Given the description of an element on the screen output the (x, y) to click on. 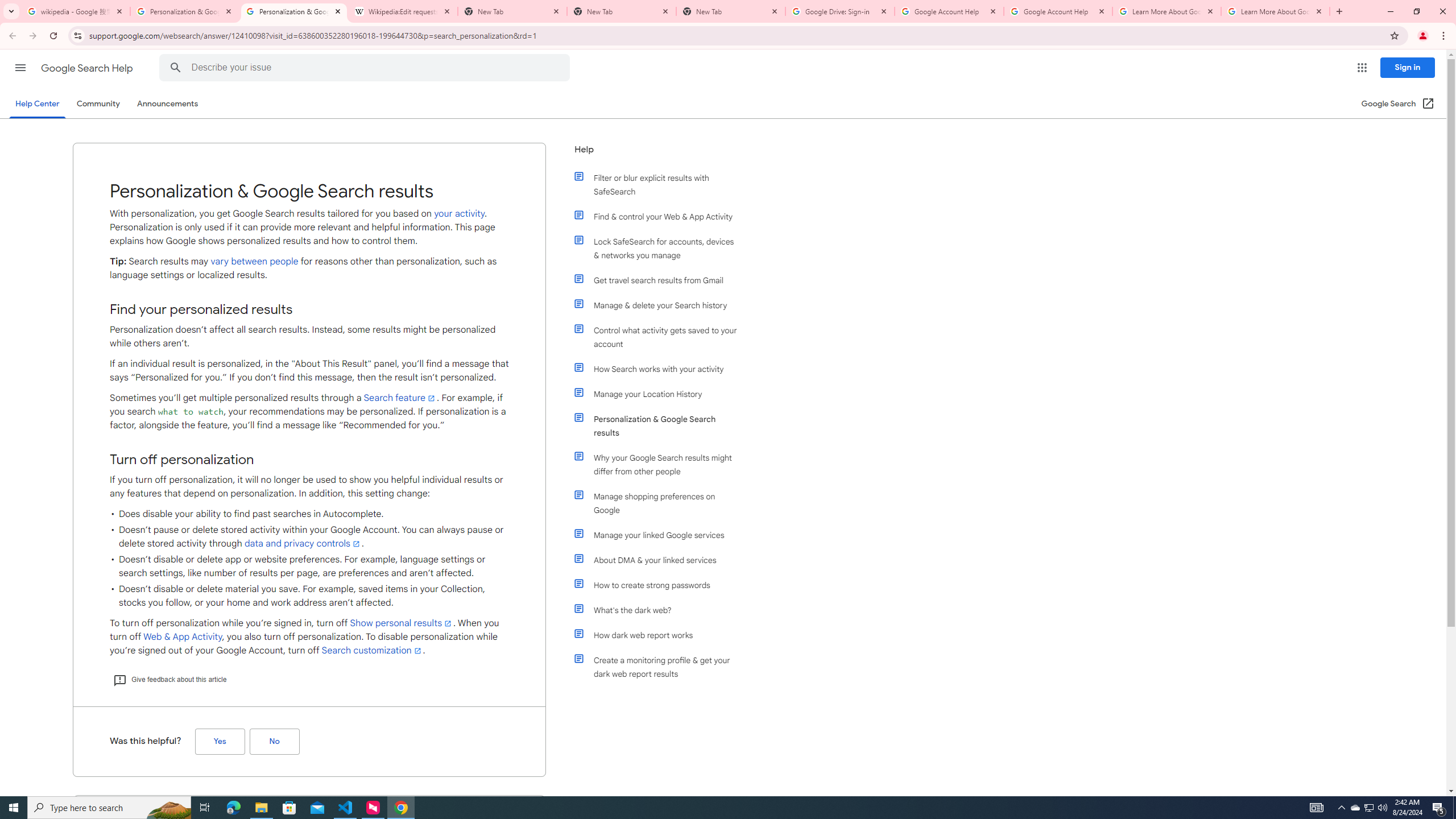
Manage & delete your Search history (661, 305)
Search Help Center (175, 67)
Google Search (Open in a new window) (1398, 103)
No (Was this helpful?) (273, 741)
Show personal results (401, 622)
Filter or blur explicit results with SafeSearch (661, 184)
About DMA & your linked services (661, 559)
data and privacy controls (302, 543)
Control what activity gets saved to your account (661, 336)
Give feedback about this article (169, 679)
